Given the description of an element on the screen output the (x, y) to click on. 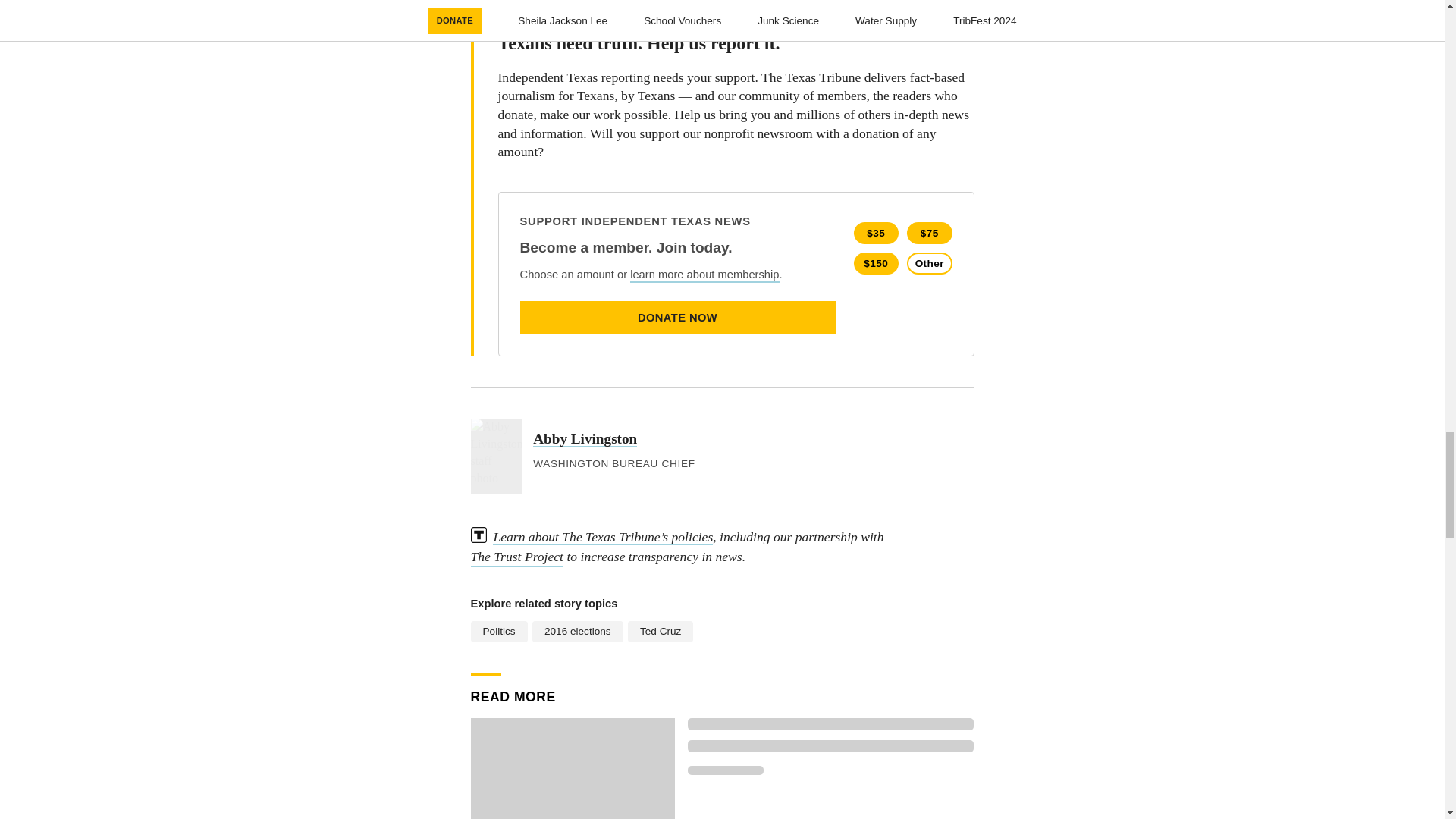
Loading indicator (830, 746)
Loading indicator (724, 769)
Loading indicator (830, 724)
